Given the description of an element on the screen output the (x, y) to click on. 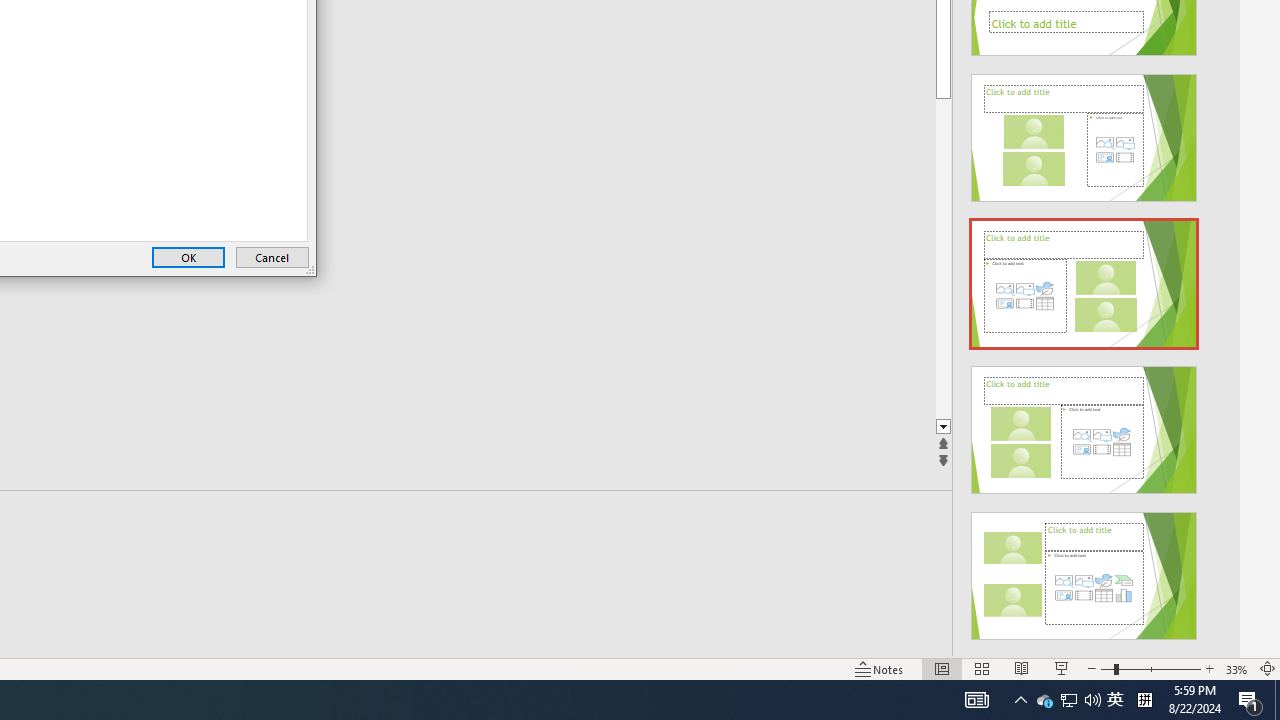
Zoom 33% (1236, 668)
OK (188, 257)
